Given the description of an element on the screen output the (x, y) to click on. 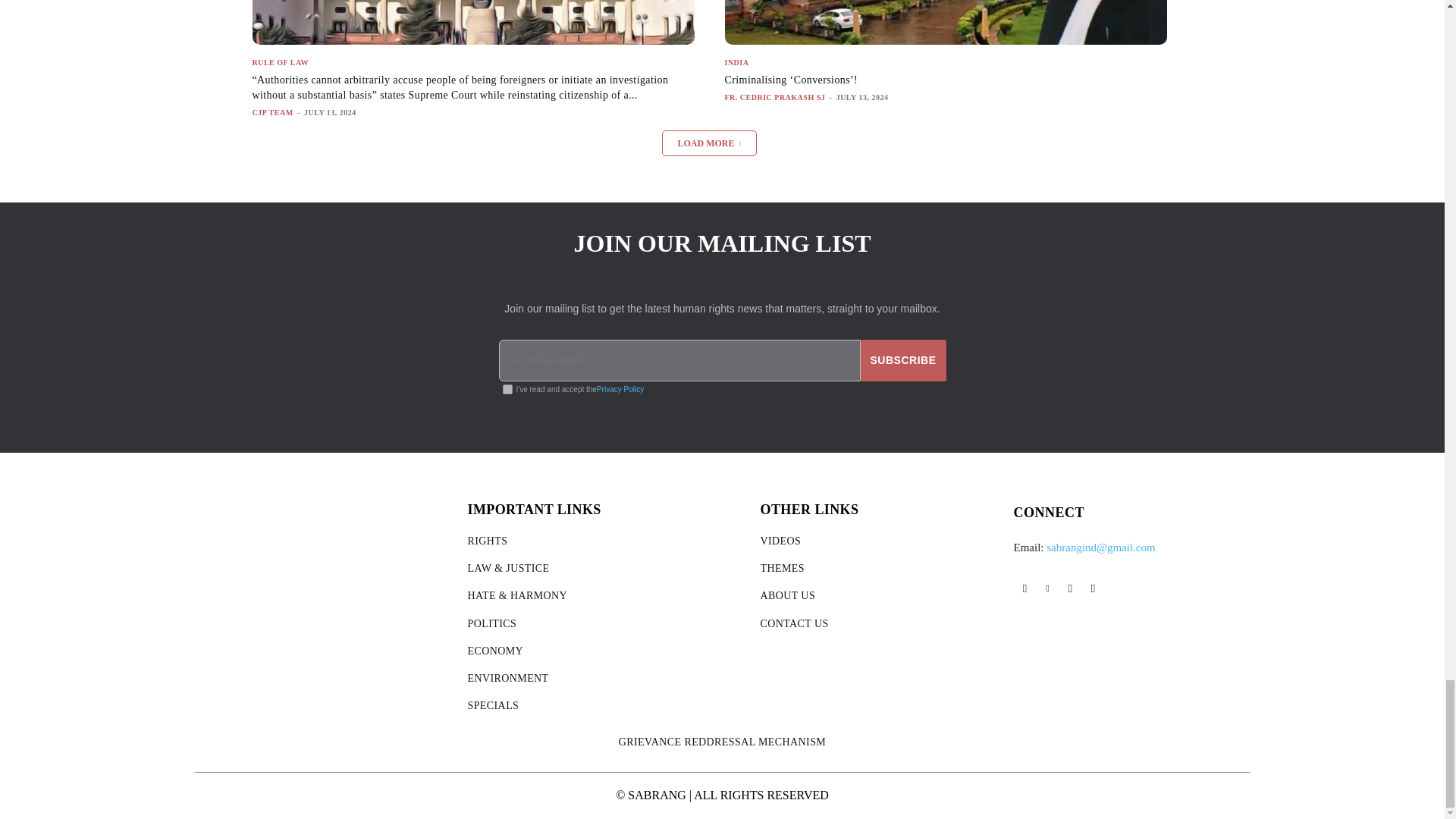
Subscribe (903, 360)
on (507, 389)
